Given the description of an element on the screen output the (x, y) to click on. 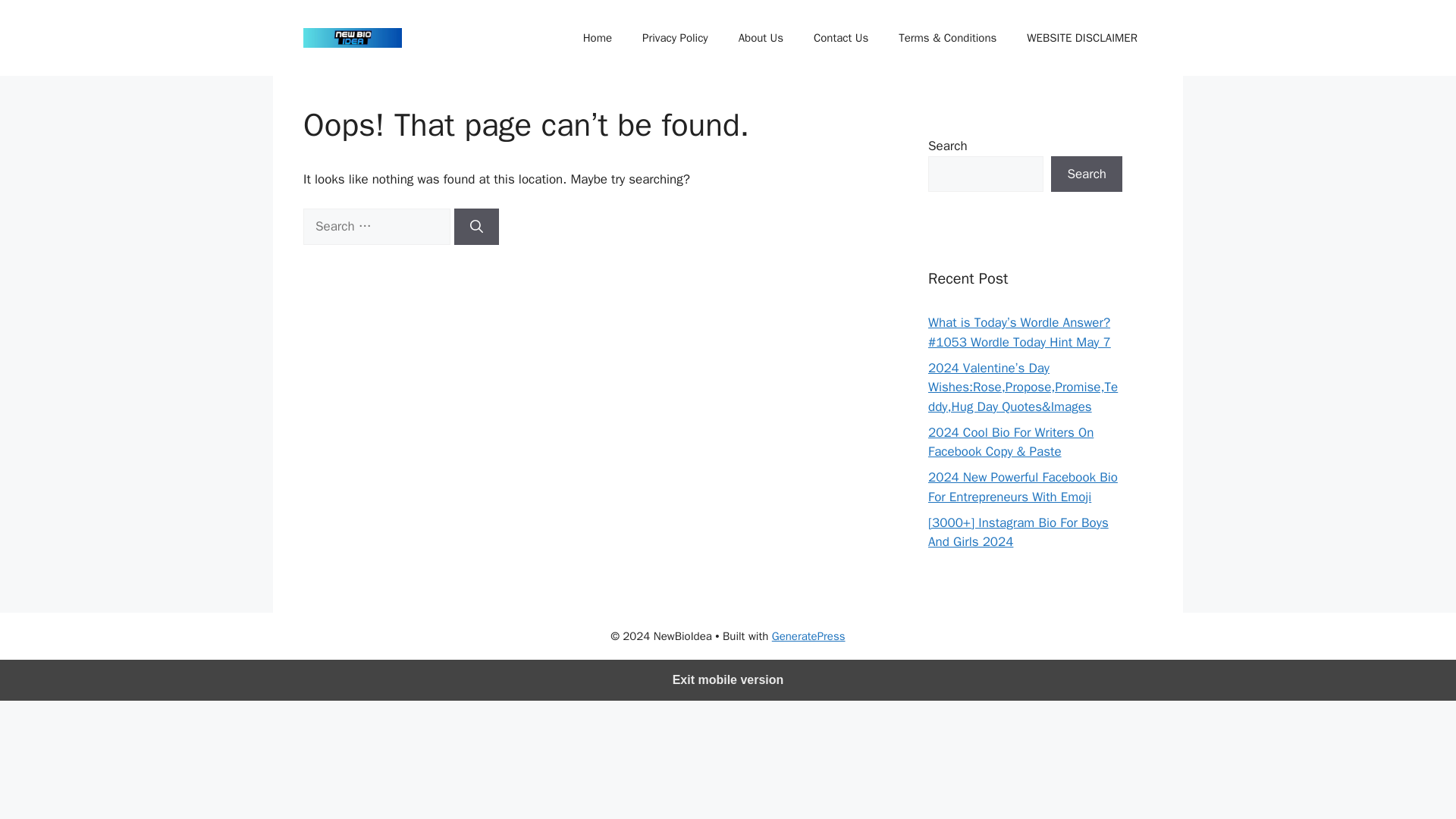
Home (597, 37)
Search (1086, 174)
Privacy Policy (675, 37)
WEBSITE DISCLAIMER (1082, 37)
About Us (760, 37)
Contact Us (840, 37)
2024 New Powerful Facebook Bio For Entrepreneurs With Emoji (1023, 487)
GeneratePress (808, 635)
Search for: (375, 226)
